Given the description of an element on the screen output the (x, y) to click on. 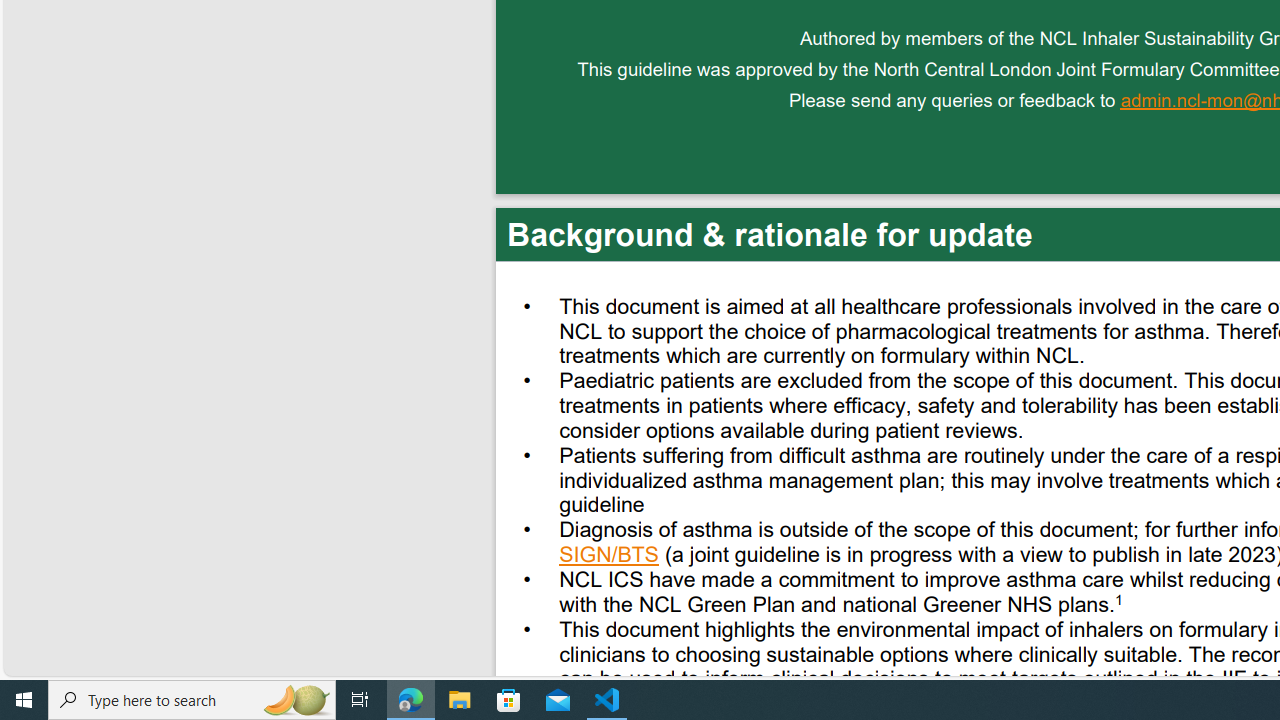
SIGN/BTS (609, 557)
